Given the description of an element on the screen output the (x, y) to click on. 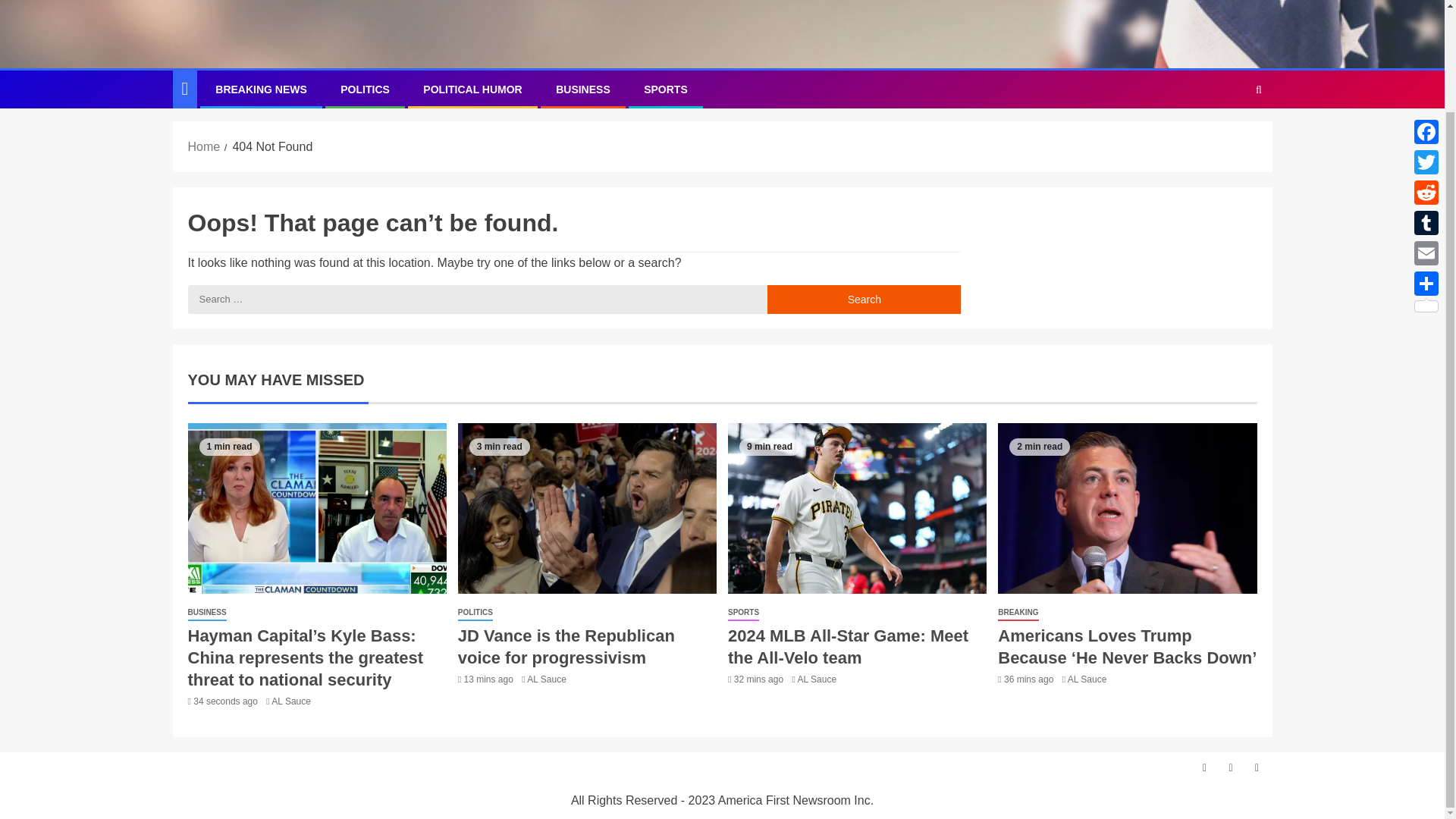
Tumblr (1425, 104)
Facebook (1425, 14)
BREAKING (1017, 612)
Reddit (1425, 73)
Email (1425, 134)
Search (863, 299)
AL Sauce (290, 701)
POLITICS (475, 612)
AL Sauce (1086, 679)
Twitter (1425, 43)
Tumblr (1425, 104)
SPORTS (743, 612)
Search (863, 299)
AL Sauce (817, 679)
Search (863, 299)
